Given the description of an element on the screen output the (x, y) to click on. 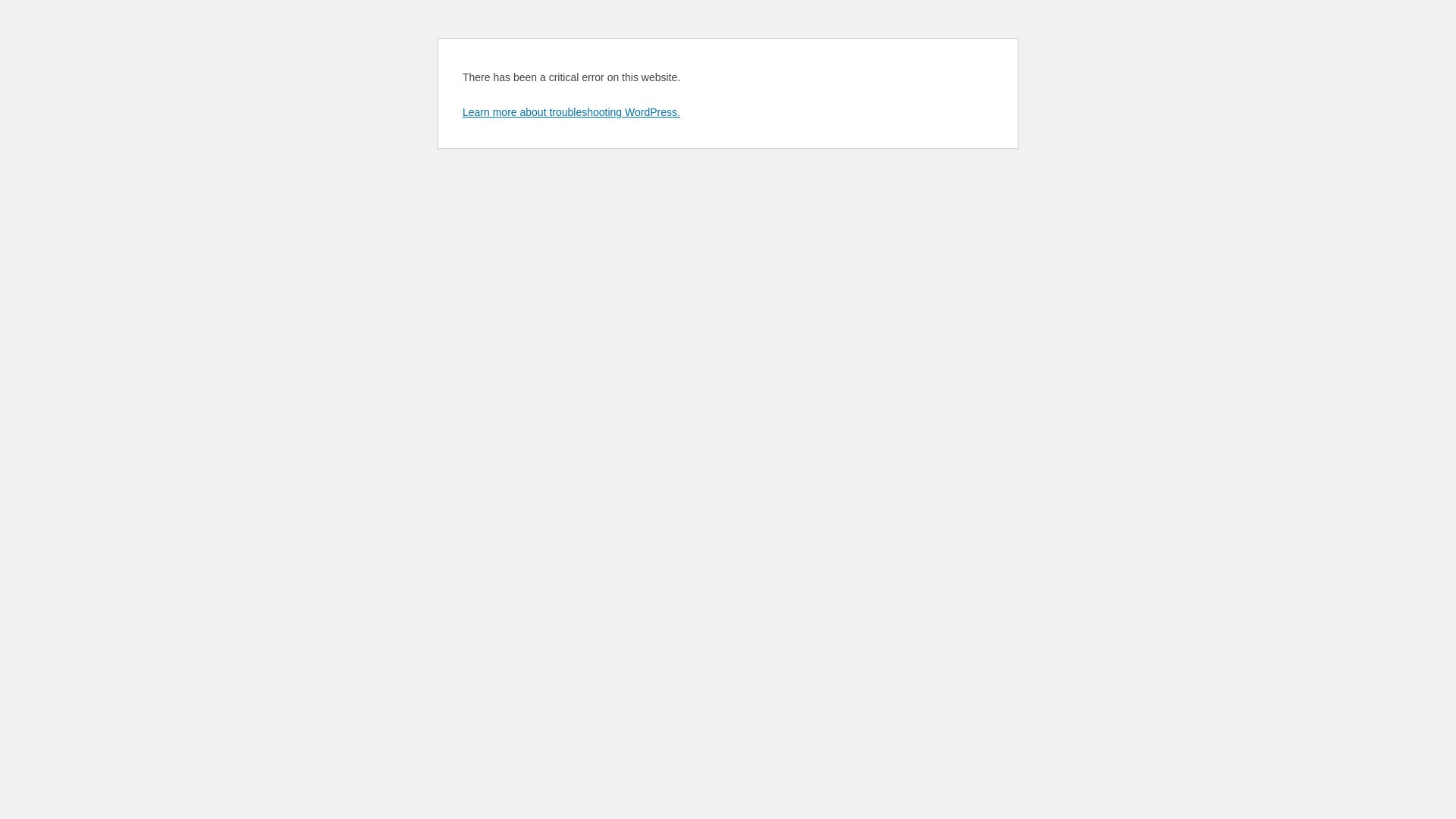
Learn more about troubleshooting WordPress. Element type: text (571, 112)
